Given the description of an element on the screen output the (x, y) to click on. 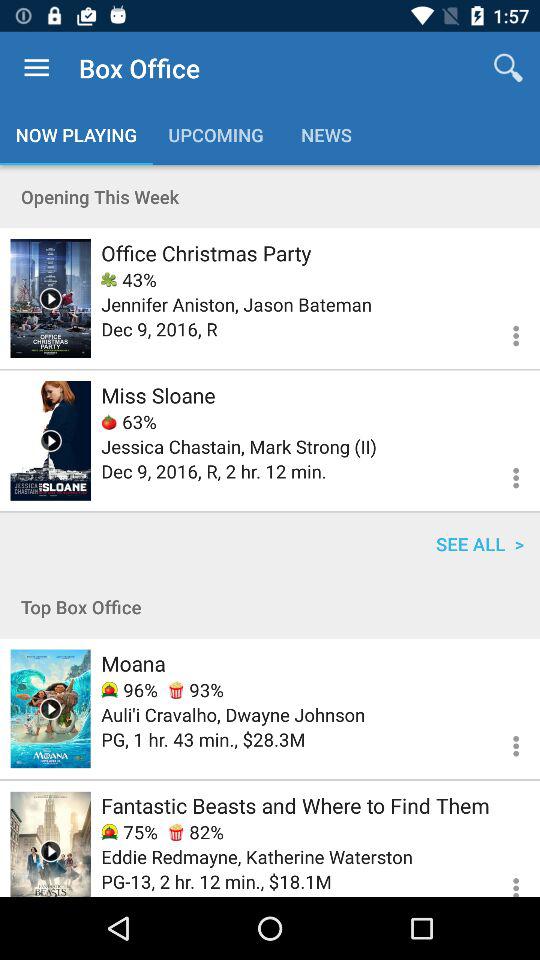
watch a video trailer (50, 298)
